Given the description of an element on the screen output the (x, y) to click on. 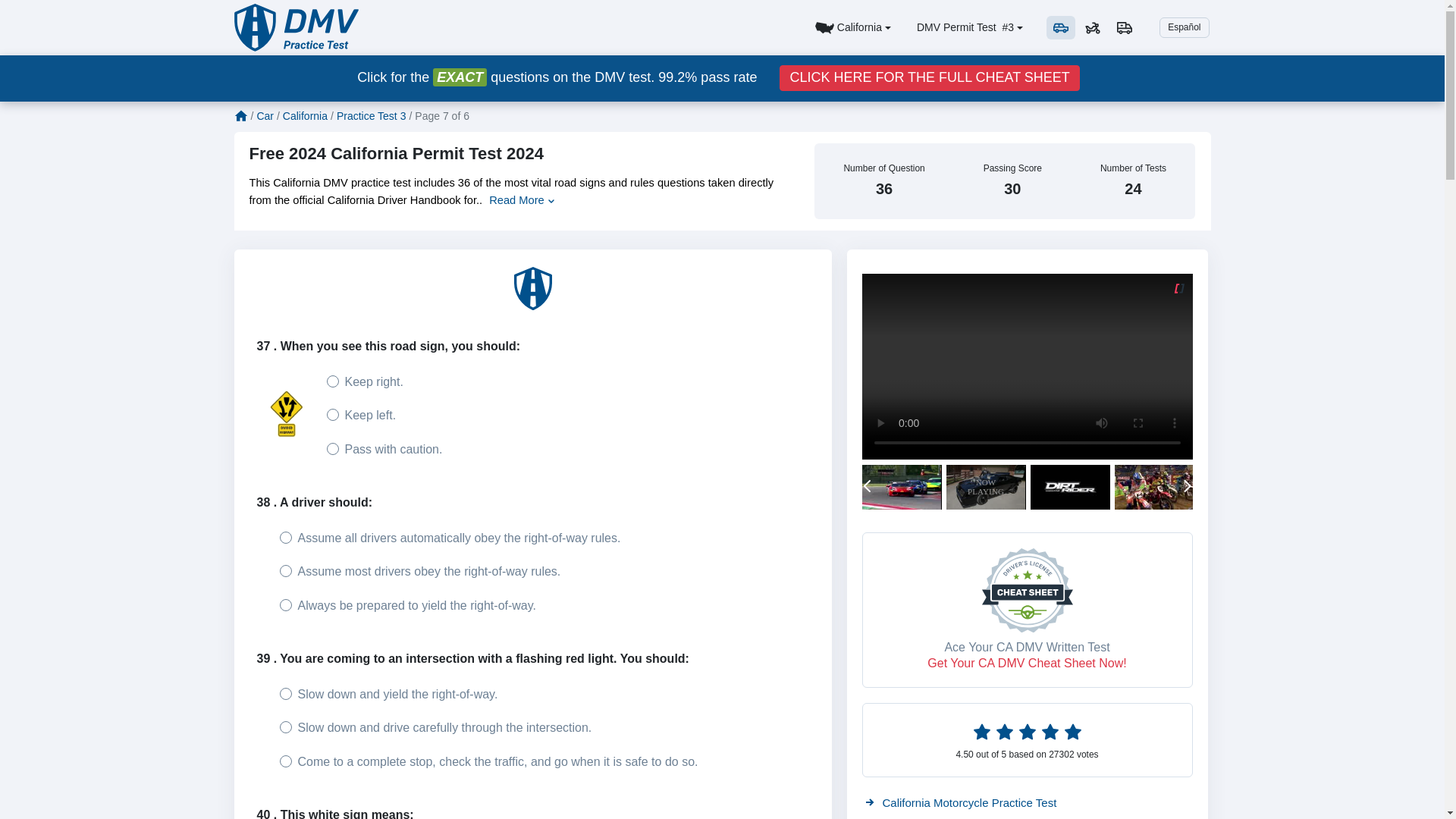
DMV Permit Test (994, 27)
California Car Practice Test (1060, 27)
Read More  (521, 200)
California Knowledge Test Class A (1124, 27)
Ace Your  DMV Written Test (928, 77)
Practice Test (295, 27)
Practice Test - Per State (853, 28)
California (853, 28)
Advertisement (532, 291)
California Motorcycle Practice Test (1092, 27)
